Given the description of an element on the screen output the (x, y) to click on. 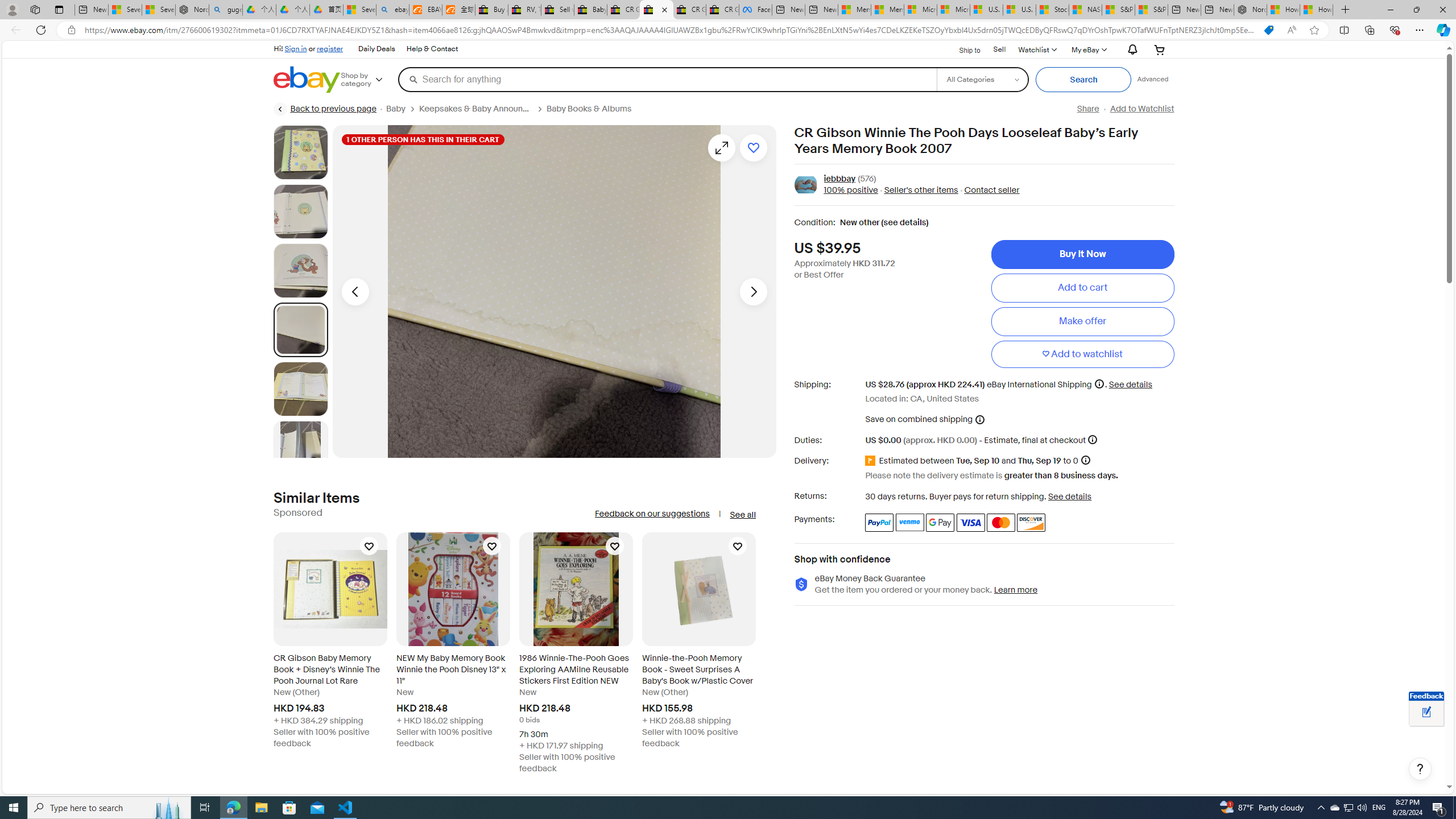
Buy It Now (1082, 253)
Notifications (1129, 49)
Share (1087, 108)
Master Card (999, 521)
Baby (395, 108)
AutomationID: gh-eb-Alerts (1131, 49)
Visa (970, 521)
Information - Estimated delivery date - opens a layer (1085, 460)
